Given the description of an element on the screen output the (x, y) to click on. 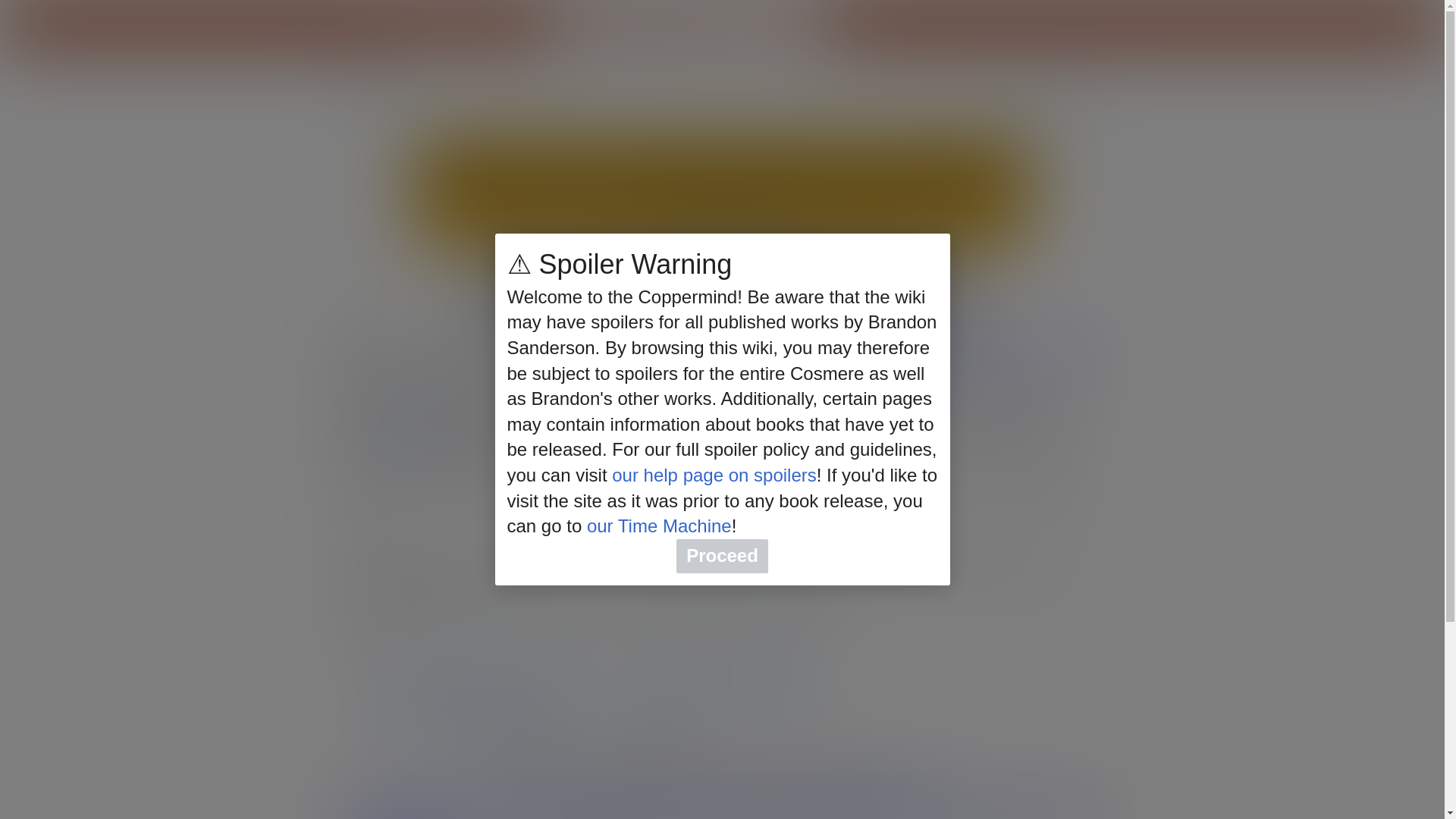
Edit (1075, 110)
Language (385, 110)
Watch (1008, 110)
Weswarans (556, 344)
skops (732, 488)
The Frugal Wizard's Handbook for Surviving Medieval England (759, 280)
The Frugal Wizard's Handbook for Surviving Medieval England (759, 280)
Edit (1091, 629)
Sefawynn (626, 364)
Weswarans (556, 344)
Ealstan's (612, 456)
Edit (1091, 535)
Woden (765, 344)
